Given the description of an element on the screen output the (x, y) to click on. 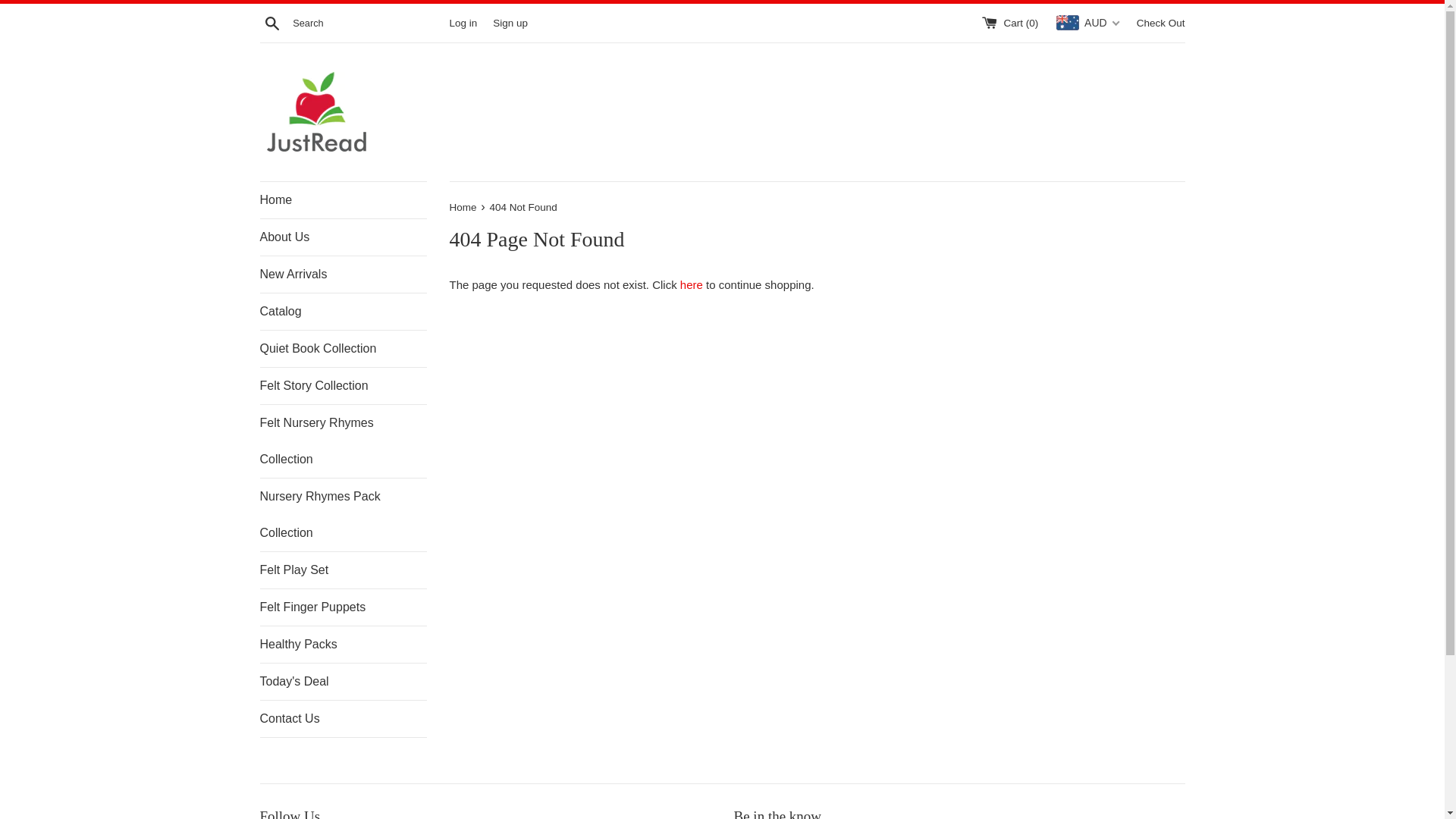
Contact Us Element type: text (342, 718)
Log in Element type: text (462, 22)
Today's Deal Element type: text (342, 681)
New Arrivals Element type: text (342, 274)
Felt Nursery Rhymes Collection Element type: text (342, 440)
Search Element type: text (271, 21)
Home Element type: text (463, 207)
Sign up Element type: text (509, 22)
Check Out Element type: text (1160, 22)
Healthy Packs Element type: text (342, 644)
About Us Element type: text (342, 237)
here Element type: text (691, 284)
Nursery Rhymes Pack Collection Element type: text (342, 514)
Felt Play Set Element type: text (342, 570)
Catalog Element type: text (342, 311)
Felt Finger Puppets Element type: text (342, 607)
Felt Story Collection Element type: text (342, 385)
Cart (0) Element type: text (1011, 22)
Quiet Book Collection Element type: text (342, 348)
Home Element type: text (342, 200)
